Given the description of an element on the screen output the (x, y) to click on. 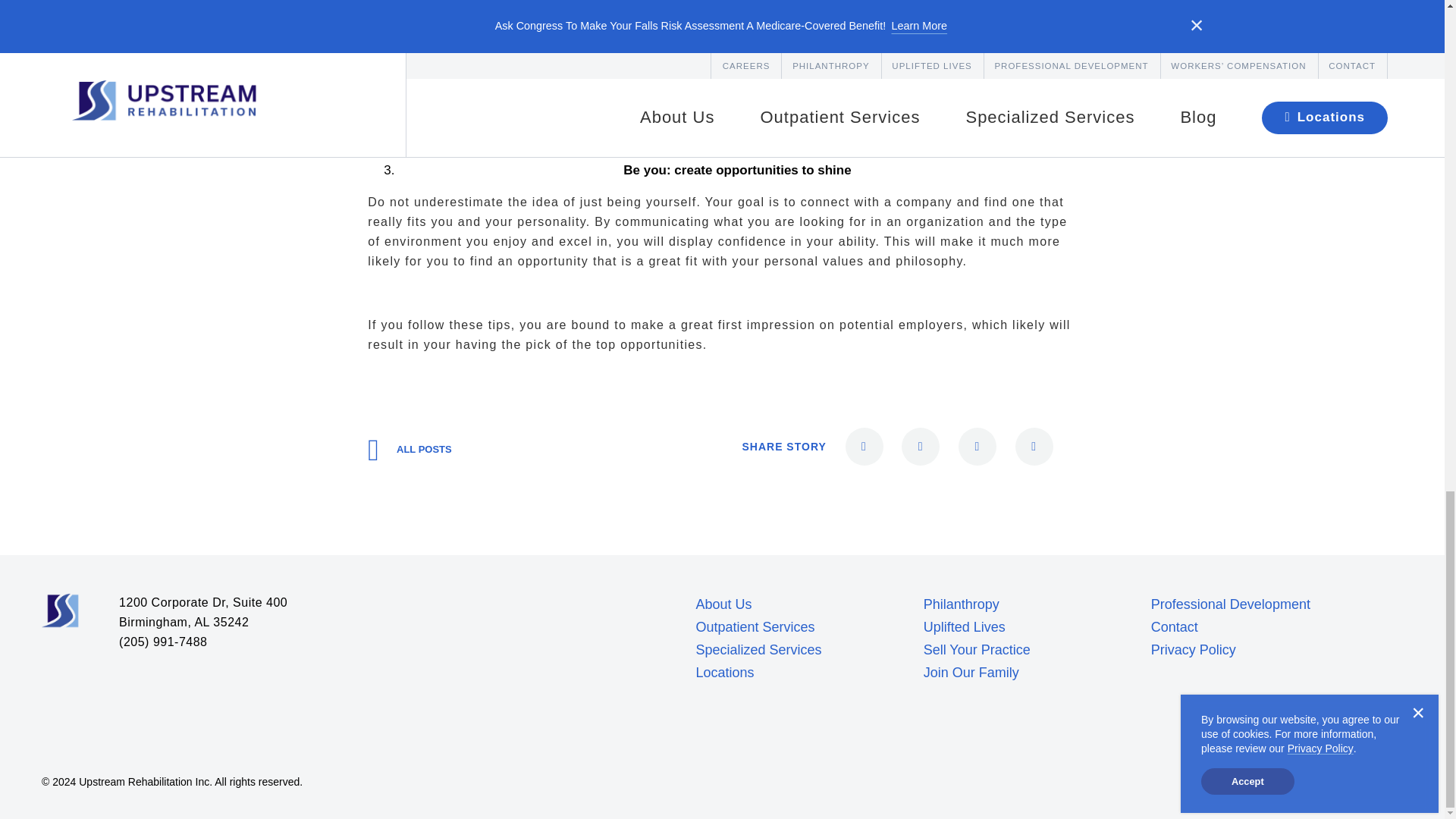
About Us (723, 604)
Philanthropy (960, 604)
ALL POSTS (409, 449)
Privacy Policy (1193, 649)
Uplifted Lives (964, 626)
Sell Your Practice (976, 649)
Outpatient Services (754, 626)
Join Our Family (971, 672)
Send this article to a friend! (864, 446)
Specialized Services (758, 649)
